Given the description of an element on the screen output the (x, y) to click on. 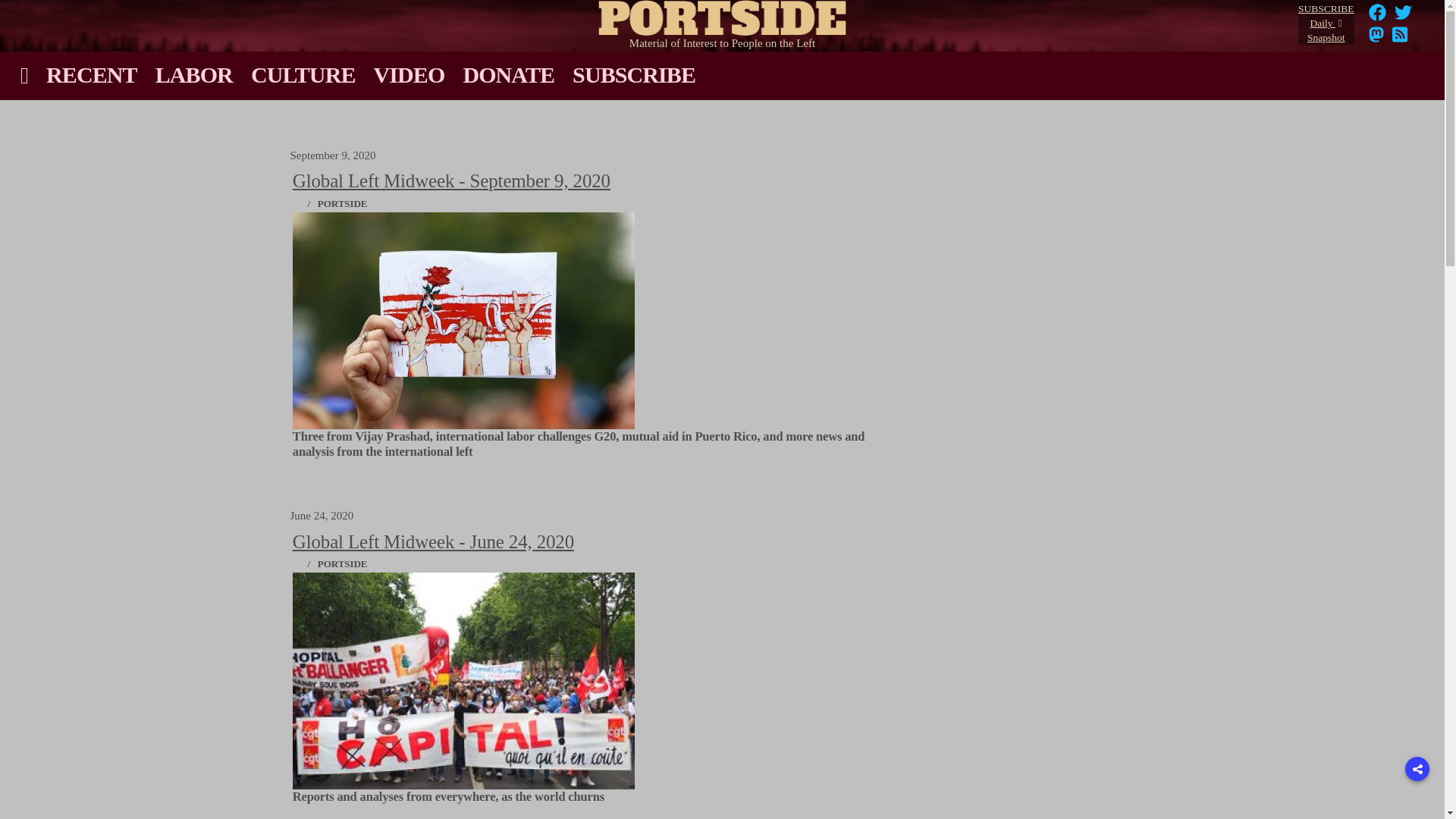
Global Left Midweek - June 24, 2020 (432, 541)
Portside Labor articles (194, 74)
LABOR (194, 74)
Follow Portside on Twitter (1403, 16)
The most recent news articles (92, 74)
VIDEO (409, 74)
Follow Portside's RSS feed (1399, 39)
Share (1417, 768)
RSS (1399, 39)
Mastodon (1376, 34)
Home (722, 14)
Mastodon (1376, 39)
Follow Portside on Facebook (1377, 16)
Twitter (1403, 16)
RSS (1399, 34)
